Given the description of an element on the screen output the (x, y) to click on. 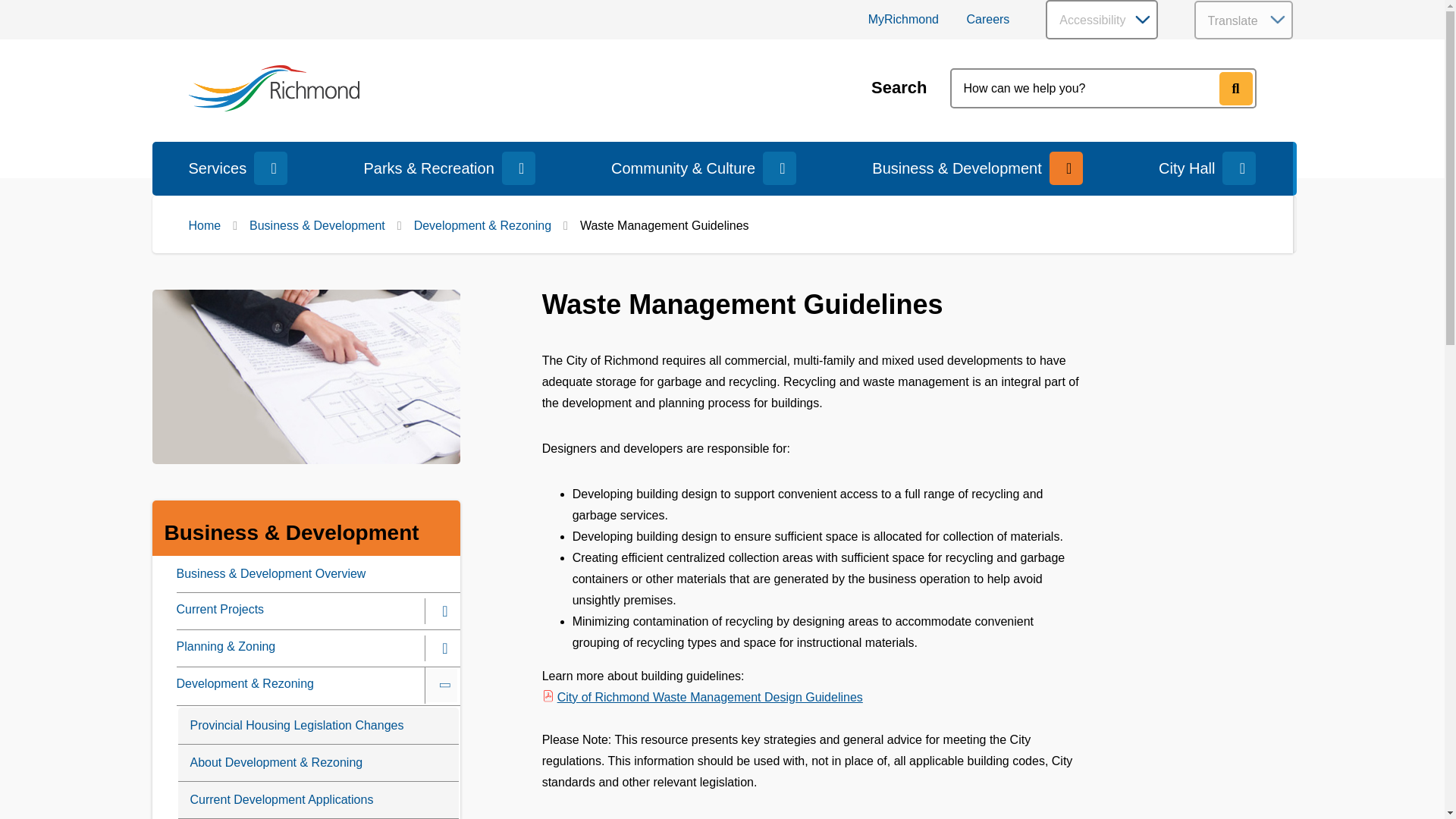
City of Richmond Waste Management Design Guidelines 03-12-24 (702, 697)
Accessibility (1101, 19)
Careers (987, 19)
MyRichmond (903, 19)
Services (216, 168)
